Given the description of an element on the screen output the (x, y) to click on. 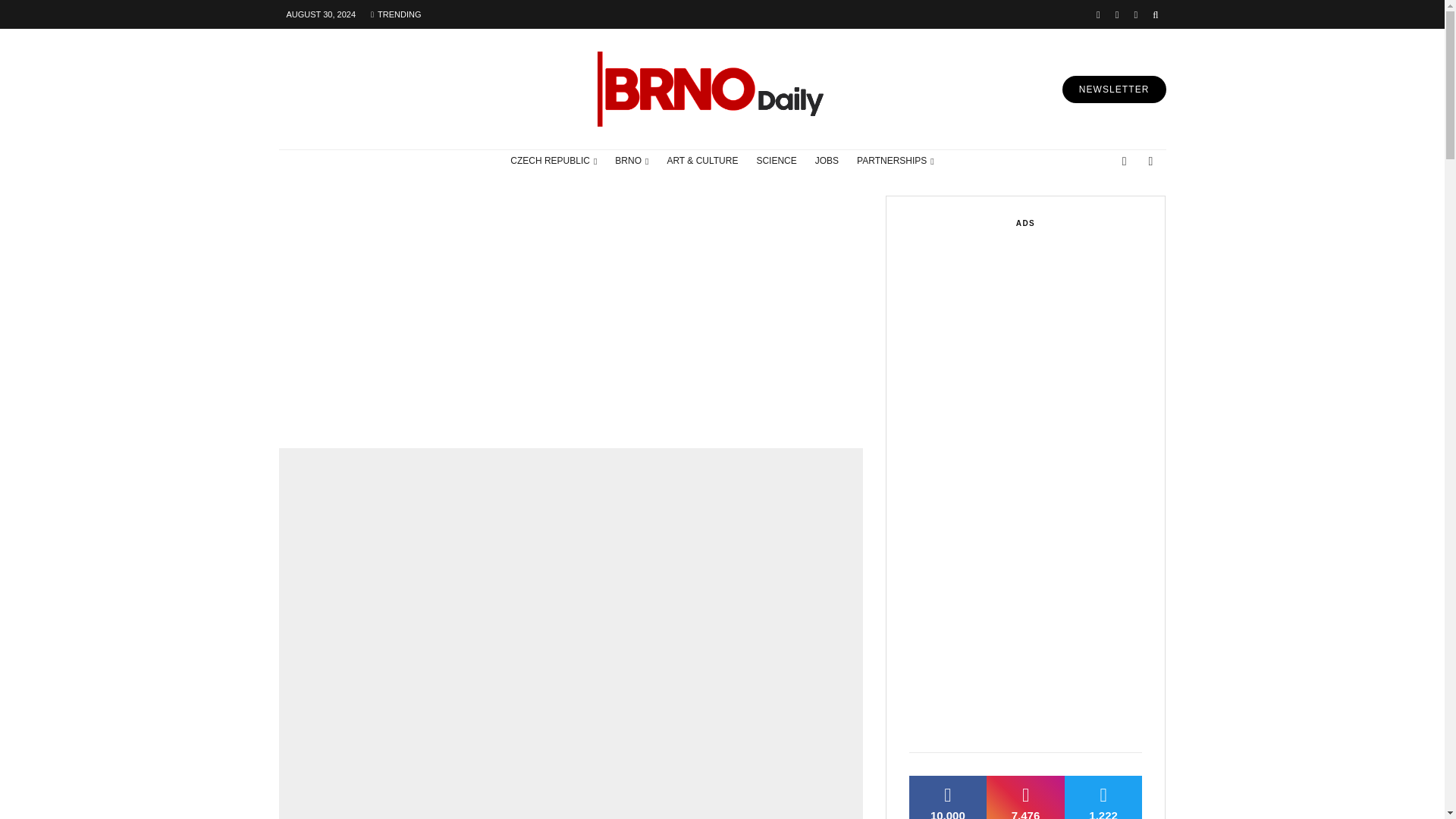
BRNO (631, 160)
CZECH REPUBLIC (552, 160)
TRENDING (395, 14)
NEWSLETTER (1114, 89)
